Given the description of an element on the screen output the (x, y) to click on. 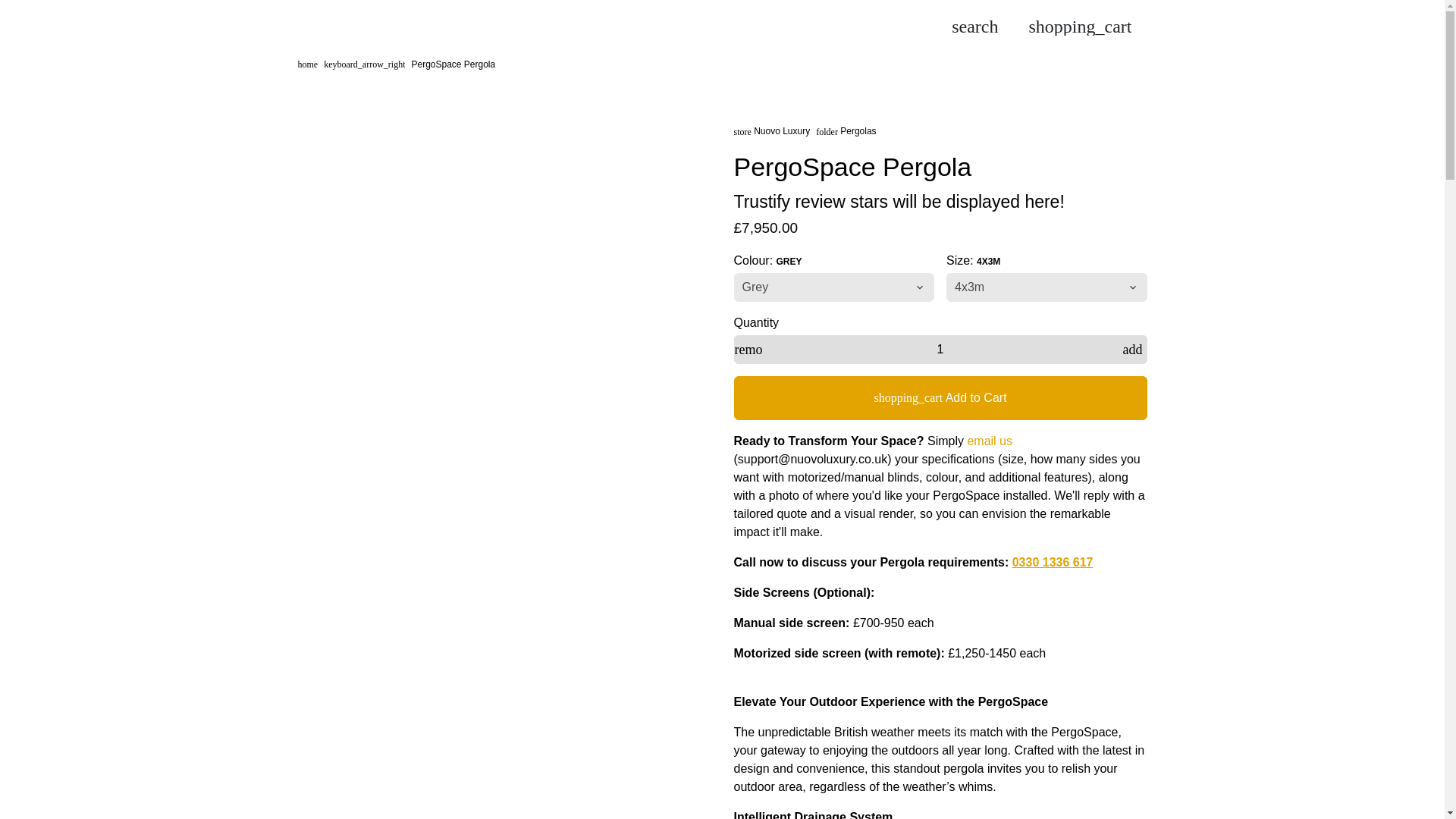
home (307, 63)
1 (940, 348)
Search (974, 25)
Increase item quantity by one (1132, 348)
Reduce item quantity by one (747, 348)
0330 1336 617 (1052, 562)
PergoSpace Pergola (452, 63)
add (1132, 348)
search (974, 25)
folder Pergolas (845, 131)
